Given the description of an element on the screen output the (x, y) to click on. 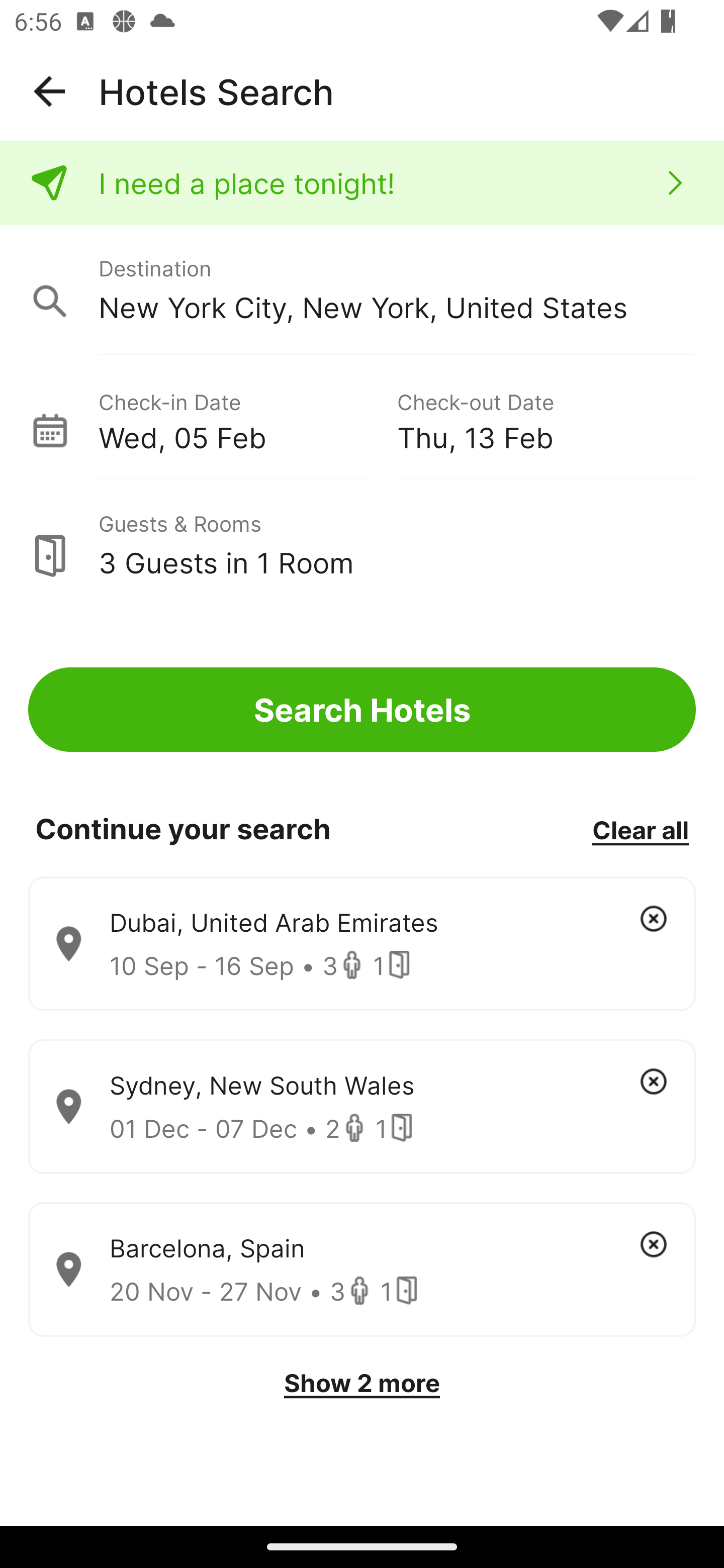
I need a place tonight! (362, 183)
Destination New York City, New York, United States (362, 290)
Check-in Date Wed, 05 Feb (247, 418)
Check-out Date Thu, 13 Feb (546, 418)
Guests & Rooms 3 Guests in 1 Room (362, 545)
Search Hotels (361, 709)
Clear all (640, 829)
Sydney, New South Wales 01 Dec - 07 Dec • 2  1  (361, 1106)
Barcelona, Spain 20 Nov - 27 Nov • 3  1  (361, 1269)
Show 2 more (362, 1382)
